Given the description of an element on the screen output the (x, y) to click on. 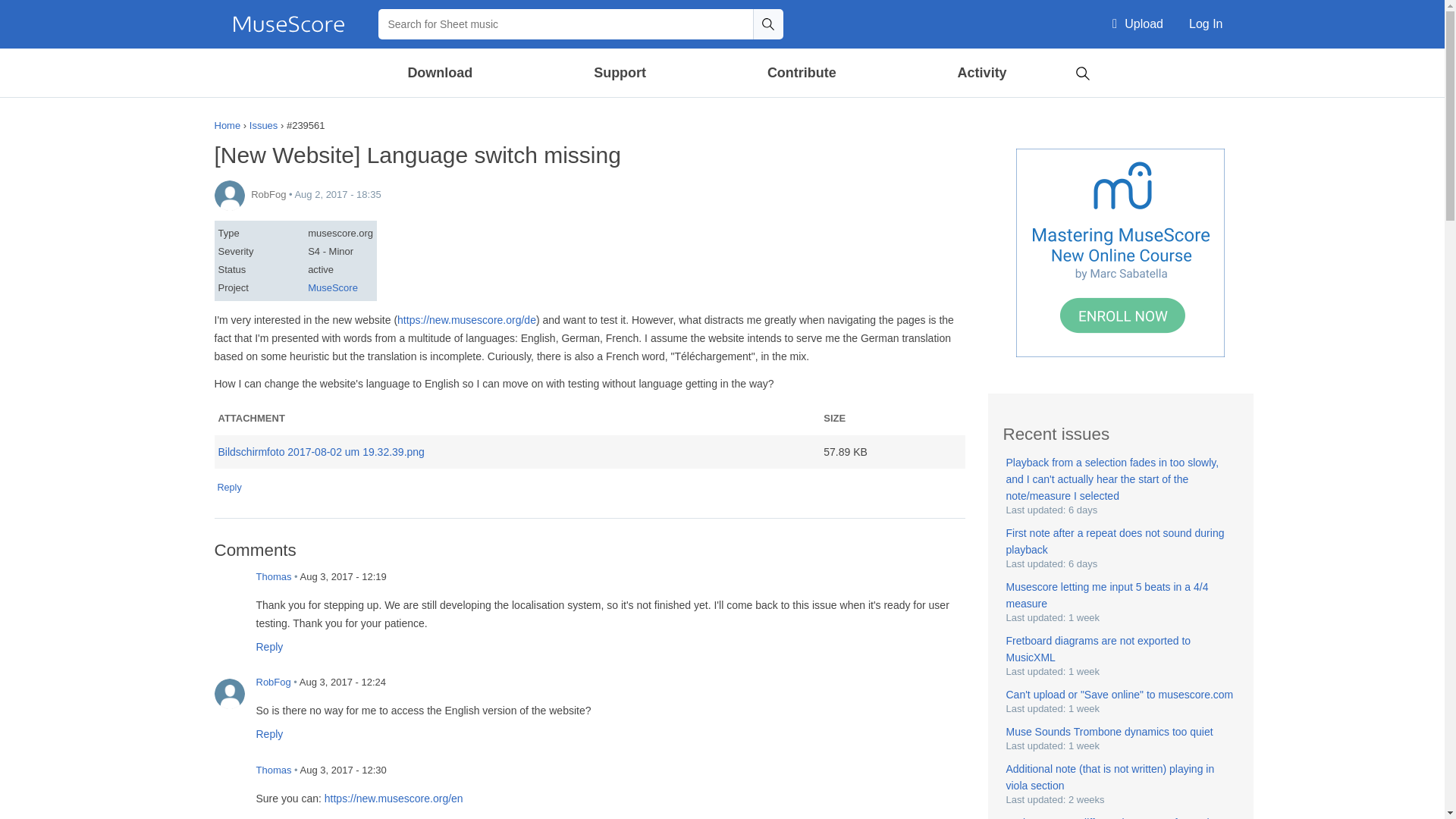
Thomas (229, 780)
MuseScore (287, 23)
Activity (981, 72)
Search (767, 24)
RobFog (229, 693)
Log In (1205, 24)
Home (287, 23)
Search (1082, 71)
RobFog (229, 195)
Upload (1137, 24)
Thomas (229, 587)
Contribute (801, 72)
Support (619, 72)
Search (767, 24)
